Given the description of an element on the screen output the (x, y) to click on. 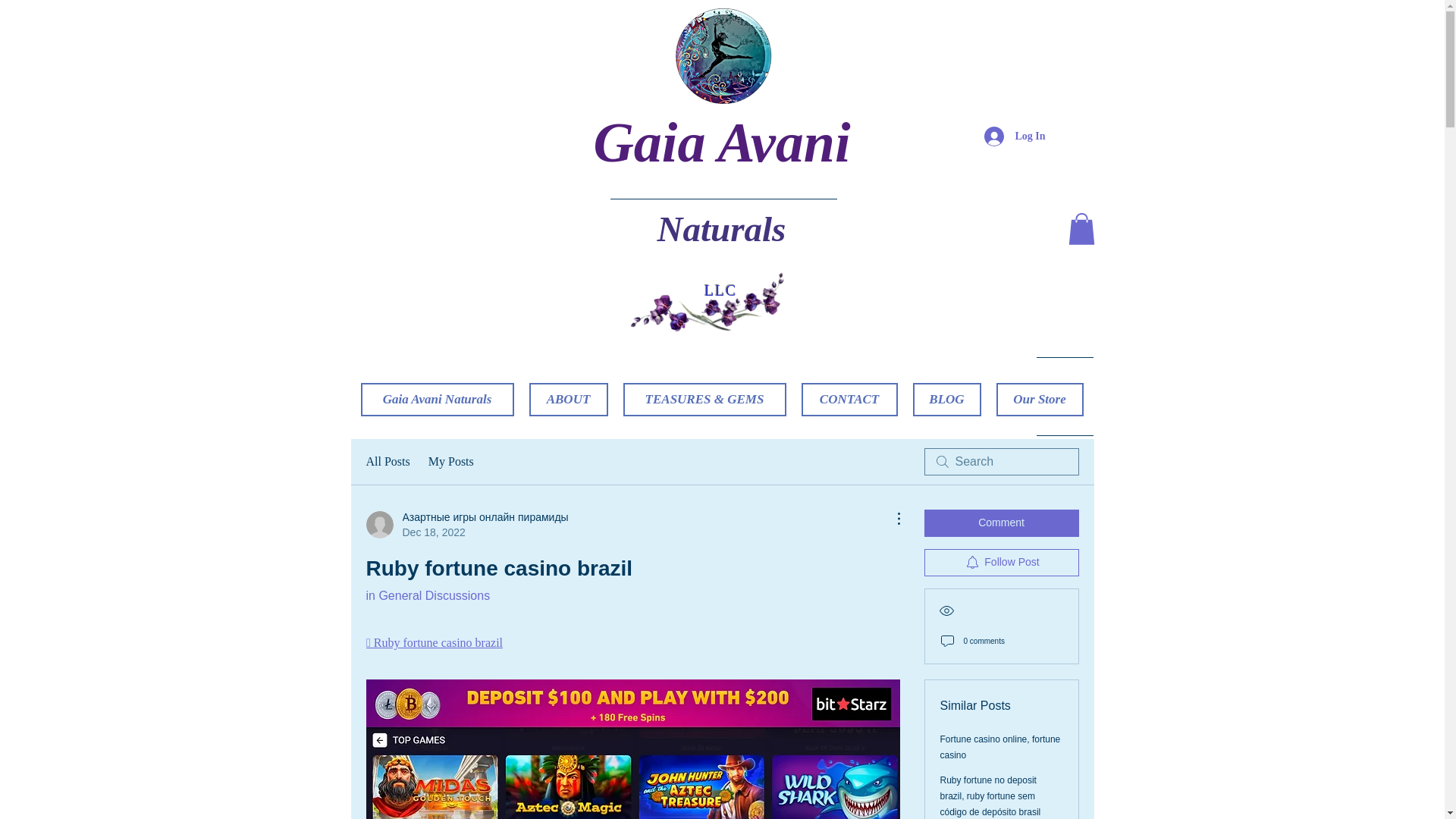
Gaia Avani Naturals (437, 399)
Fortune casino online, fortune casino (1000, 746)
Our Store (1039, 399)
CONTACT (848, 399)
Log In (1014, 135)
My Posts (451, 461)
BLOG (946, 399)
All Posts (387, 461)
Follow Post (1000, 562)
G (612, 142)
ABOUT (568, 399)
in General Discussions (427, 594)
N (670, 228)
Comment (1000, 523)
